Given the description of an element on the screen output the (x, y) to click on. 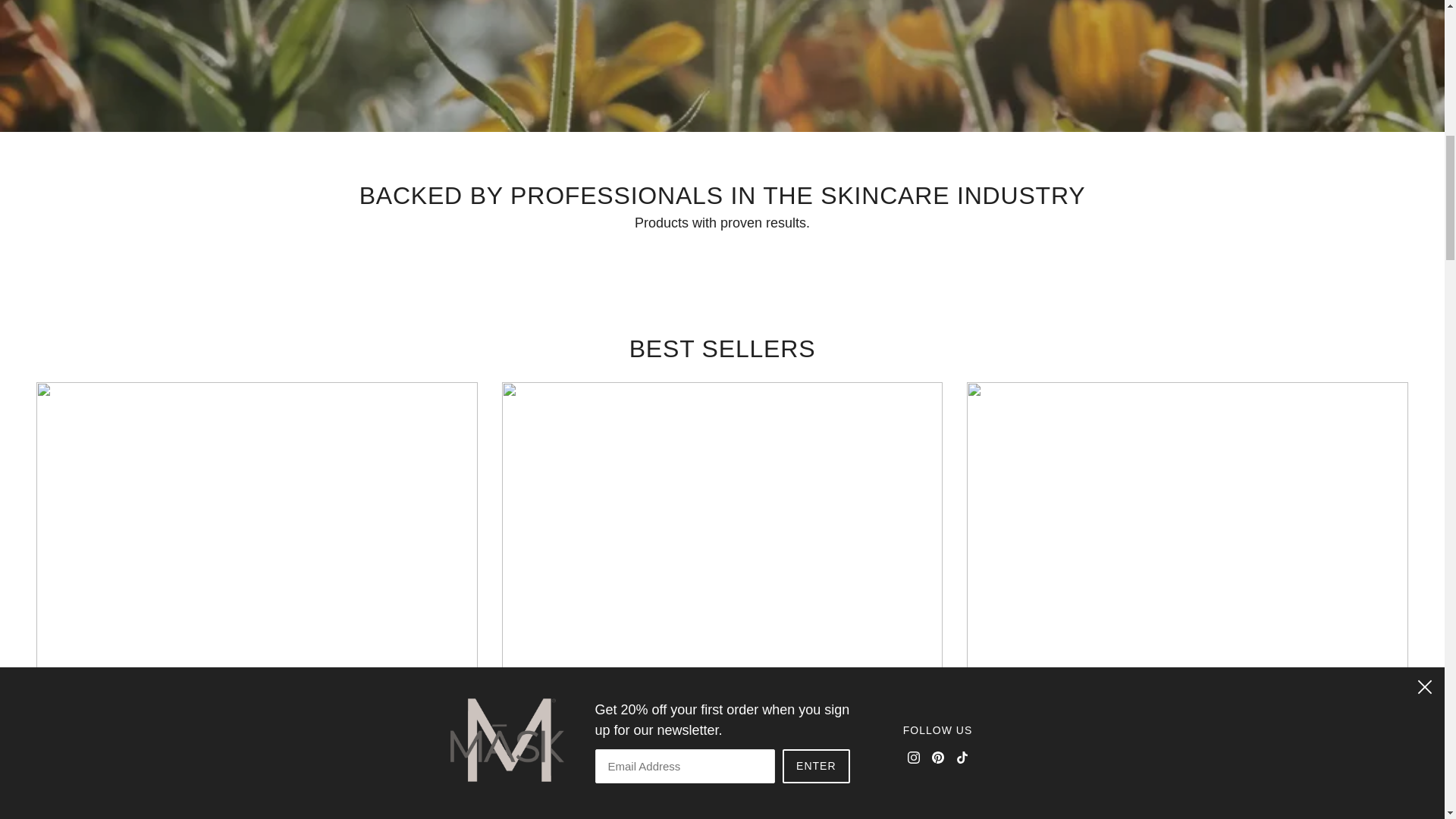
BEST SELLERS (721, 348)
